Given the description of an element on the screen output the (x, y) to click on. 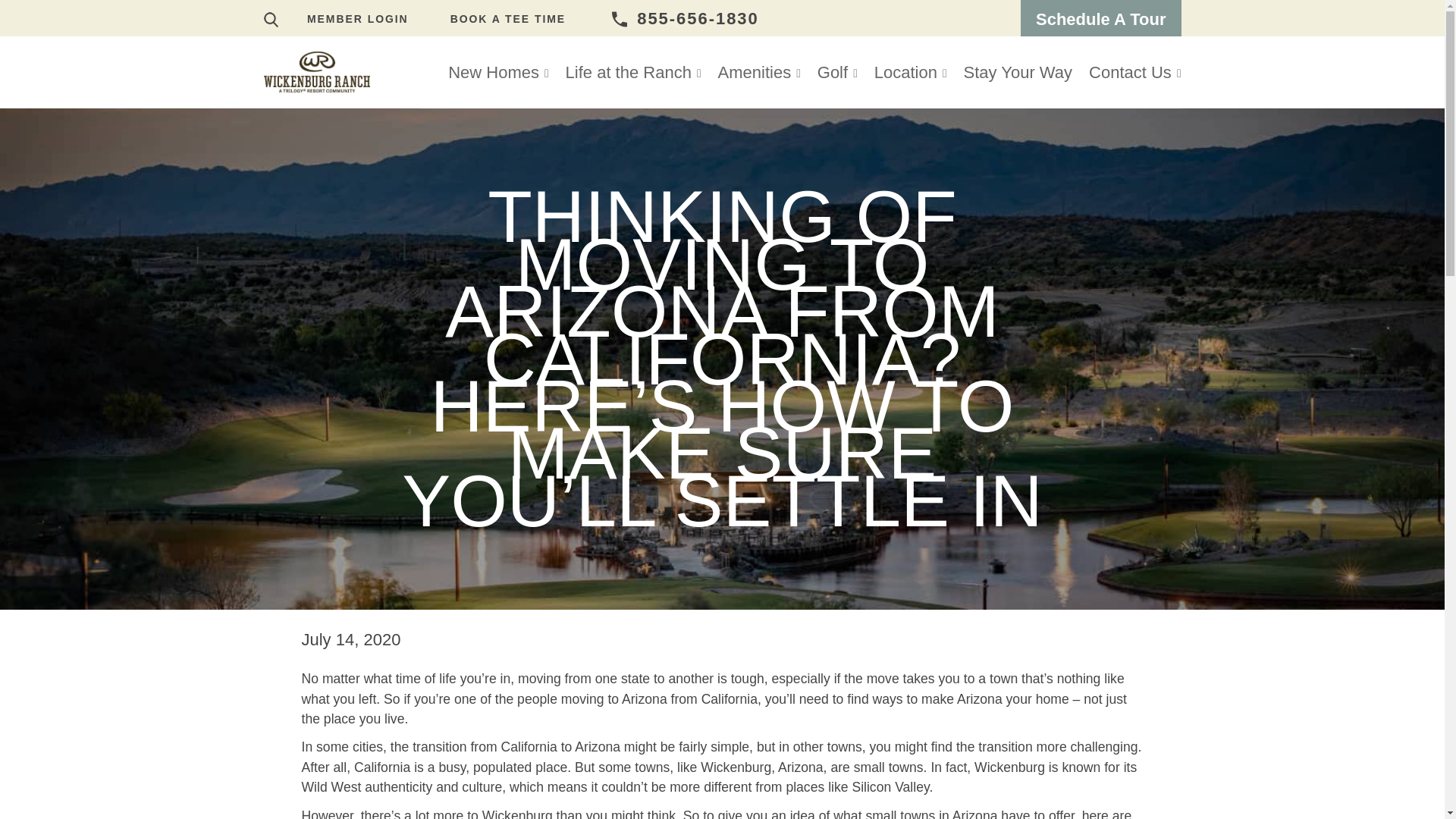
Location (910, 72)
Life at the Ranch (633, 72)
Contact Us (1130, 72)
New Homes (497, 72)
855-656-1830 (684, 18)
Stay Your Way (1017, 72)
Schedule A Tour (1100, 19)
Amenities (759, 72)
Amenities (759, 72)
Life at the Ranch (633, 72)
